Given the description of an element on the screen output the (x, y) to click on. 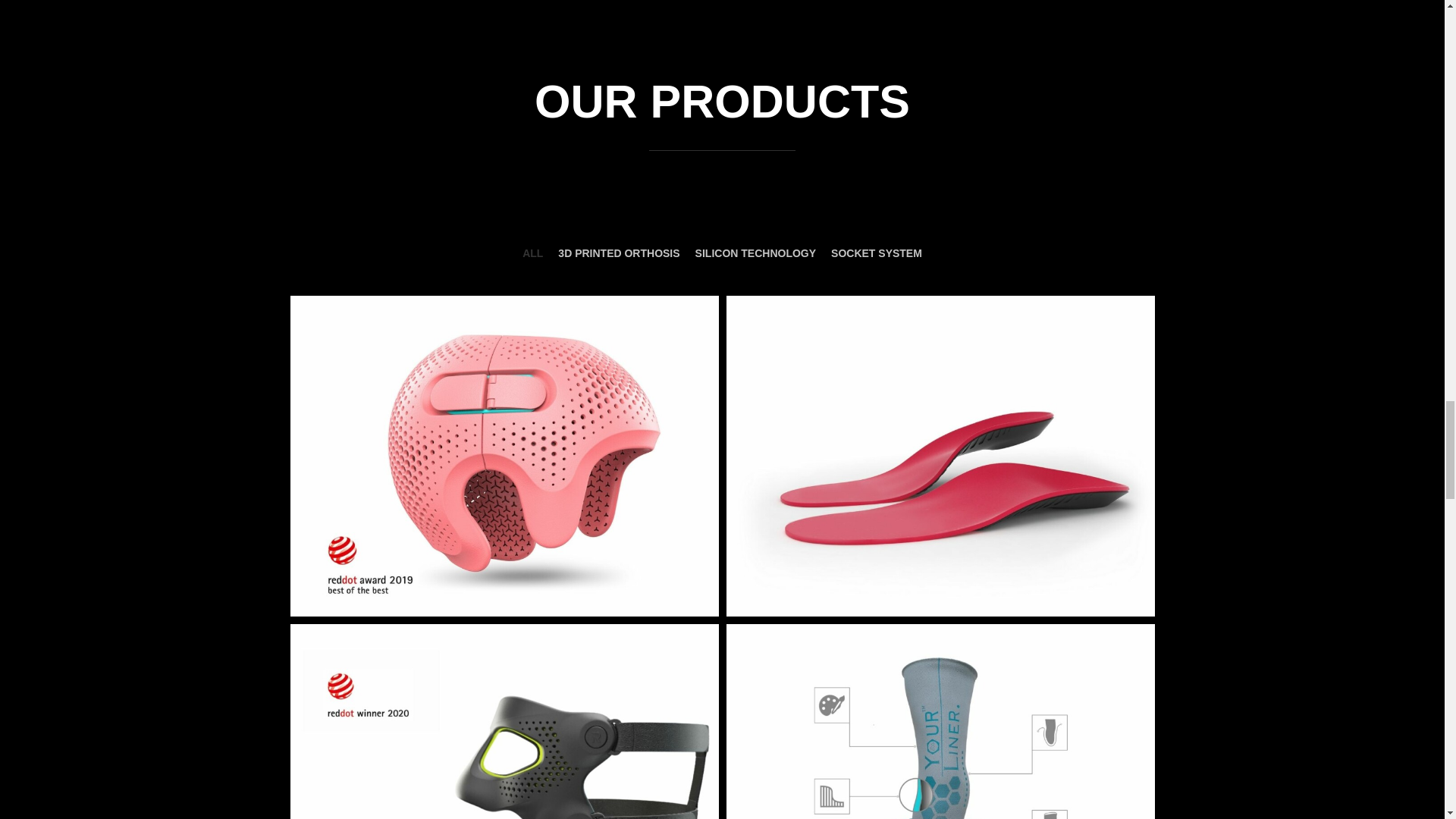
SOCKET SYSTEM (876, 253)
SILICON TECHNOLOGY (755, 253)
1FC40A9D-090C-4CF6-913F-6DFD2D4C3940 (503, 721)
ALL (532, 253)
0DB3F7E0-0319-4E74-BAB0-C76A068FCA62 (940, 721)
3D PRINTED ORTHOSIS (618, 253)
